Given the description of an element on the screen output the (x, y) to click on. 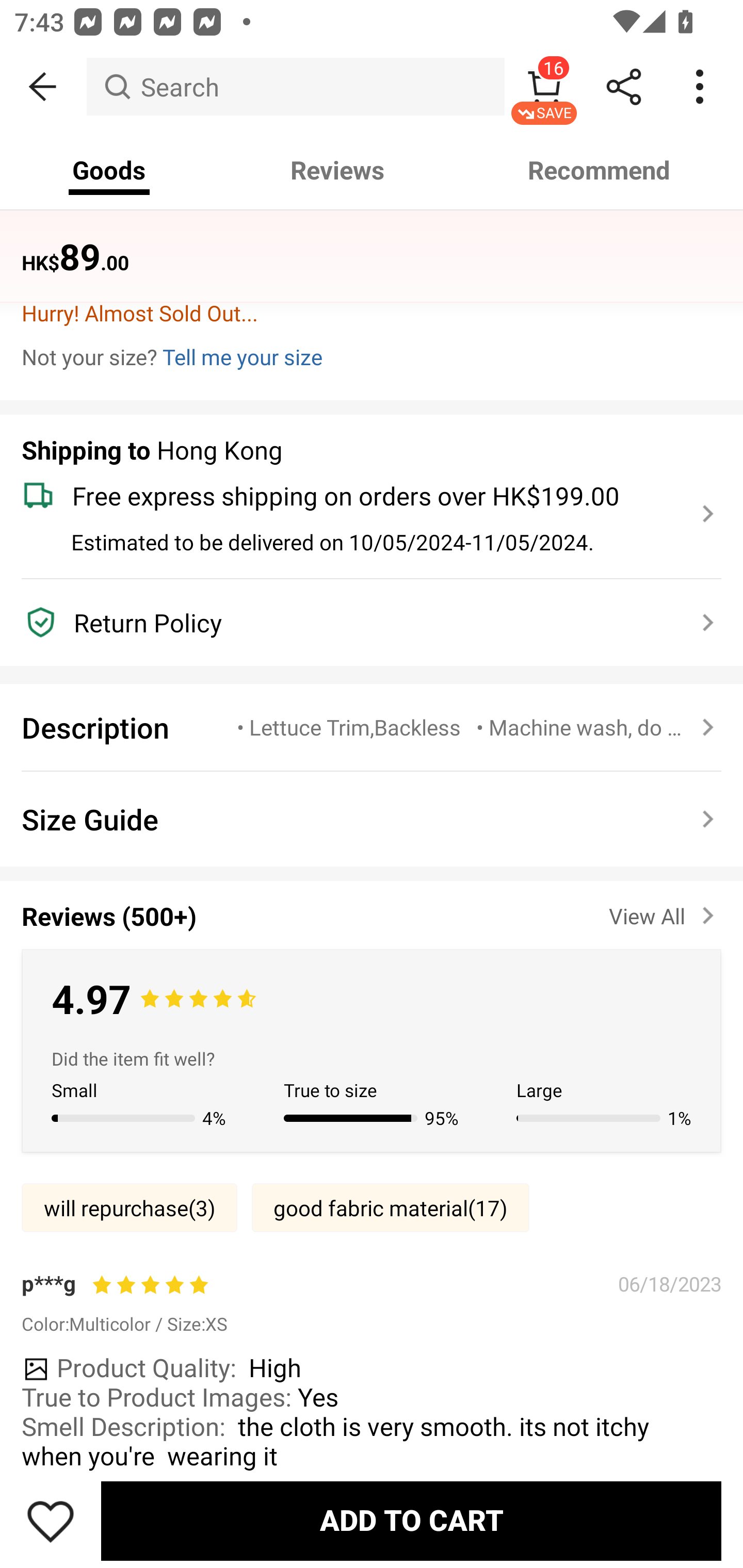
BACK (43, 86)
16 SAVE (543, 87)
Search (295, 87)
Goods (109, 170)
Reviews (337, 170)
Recommend (599, 170)
Hurry! Almost Sold Out... (371, 312)
Not your size? Tell me your size (371, 356)
Return Policy (359, 622)
Size Guide (371, 819)
View All (664, 911)
will repurchase(3) (129, 1207)
good fabric material(17) (390, 1207)
ADD TO CART (411, 1520)
Save (50, 1520)
